Given the description of an element on the screen output the (x, y) to click on. 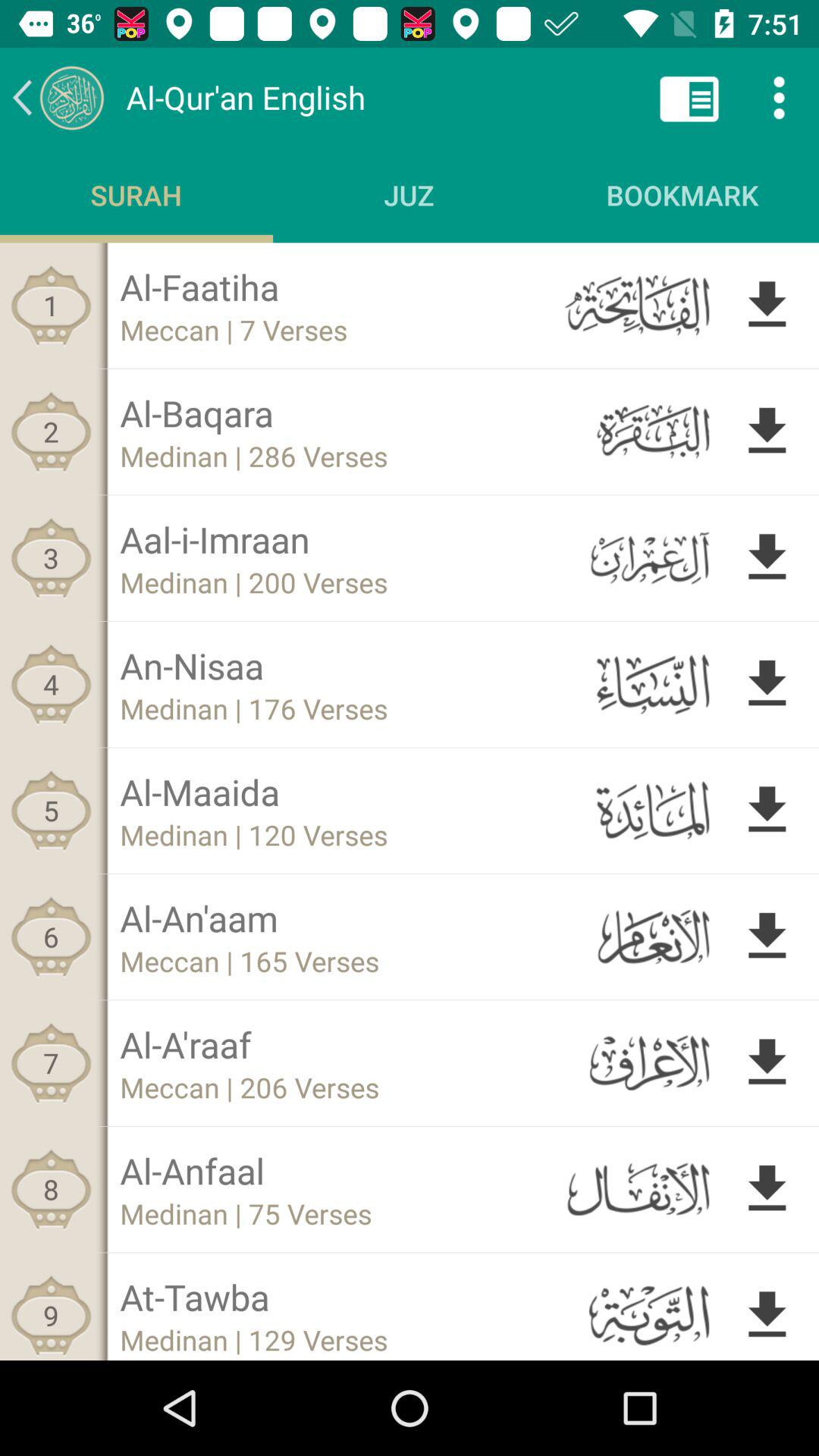
download (767, 431)
